Given the description of an element on the screen output the (x, y) to click on. 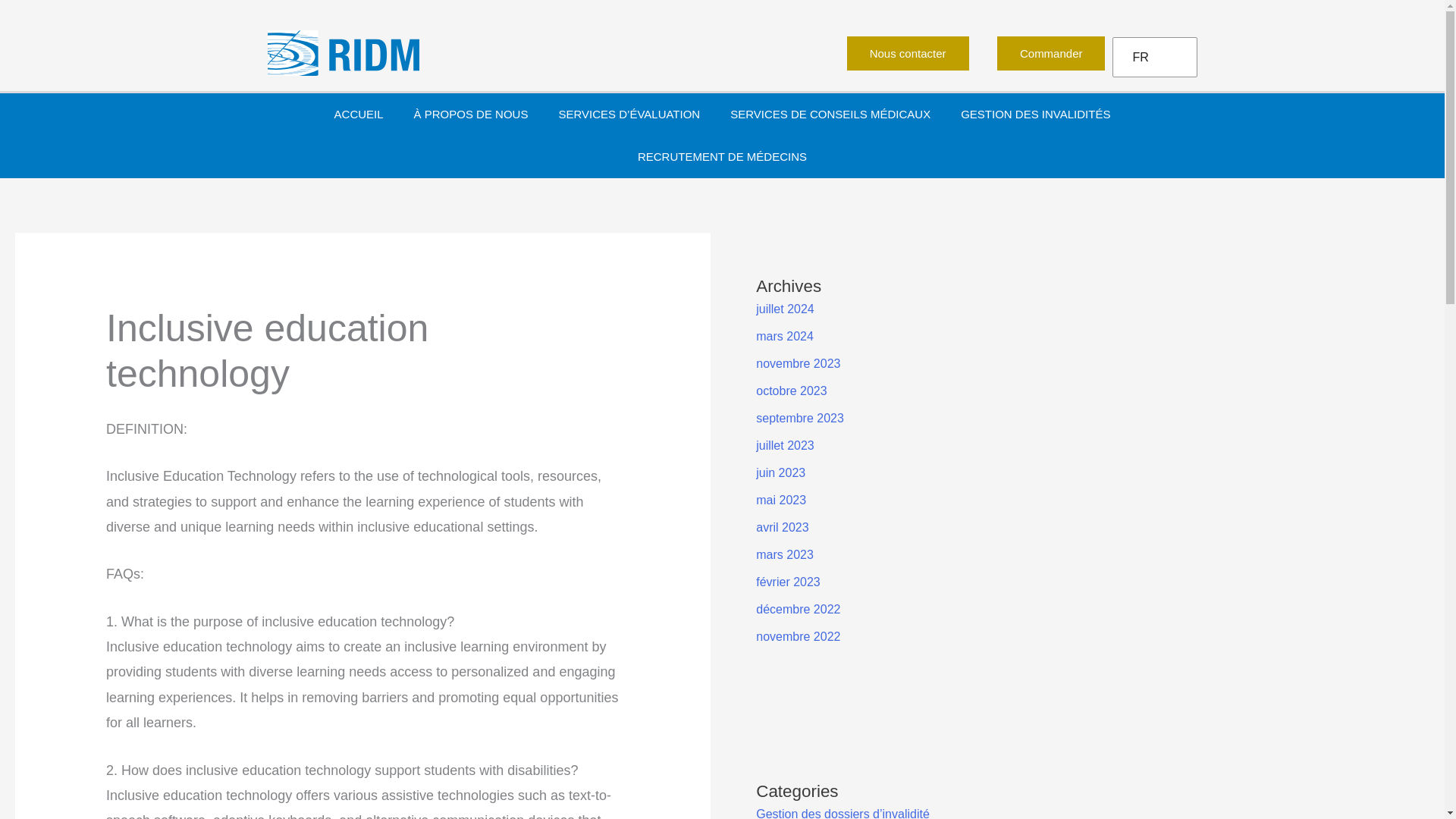
FR (1151, 57)
ACCUEIL (358, 114)
Commander (1051, 53)
Nous contacter (908, 53)
French (1151, 57)
